Given the description of an element on the screen output the (x, y) to click on. 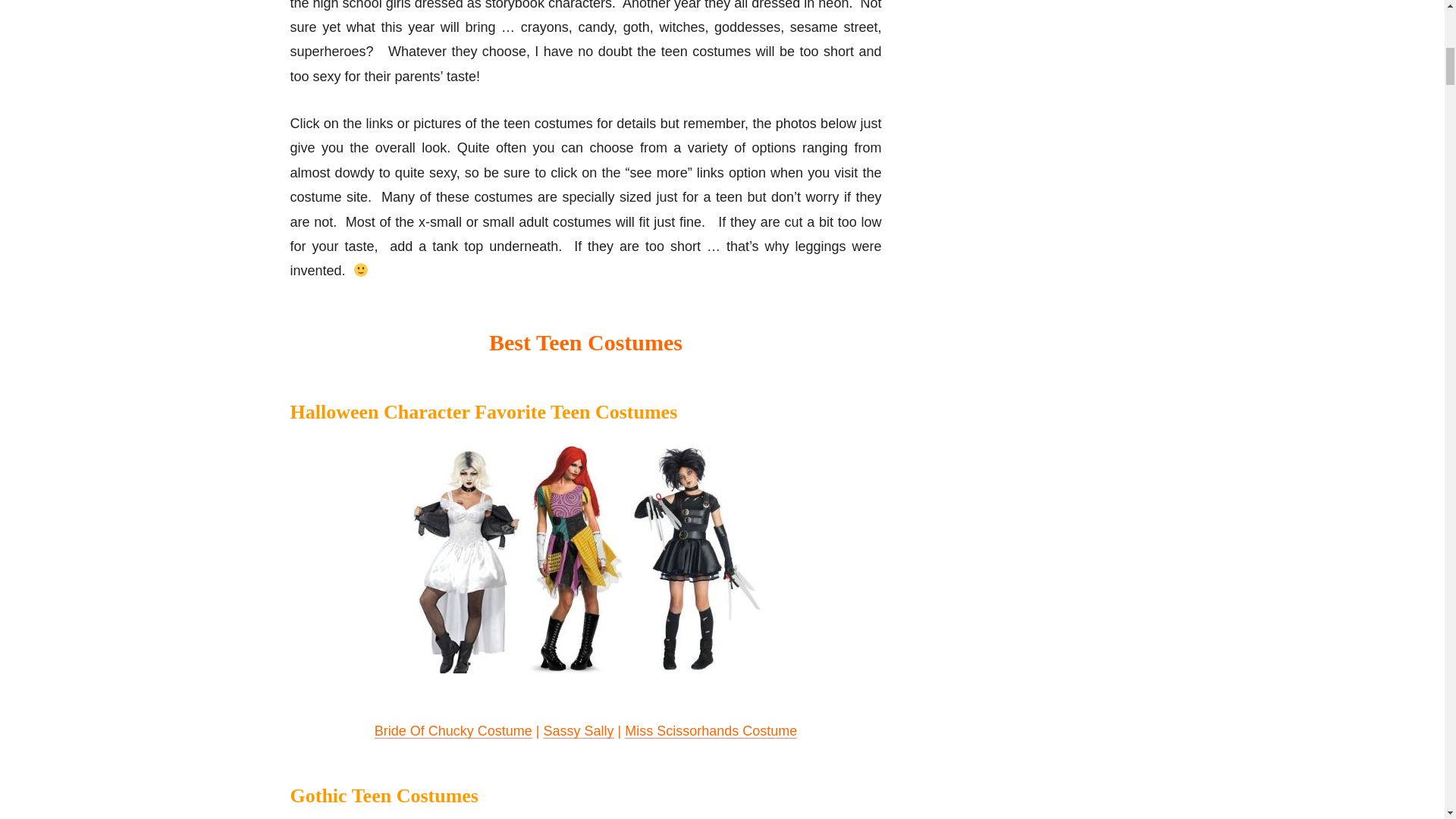
Bride Of Chucky Costume, Teen Costumes (465, 559)
The Nightmare Before Christmas Teen Costumes (576, 559)
